Given the description of an element on the screen output the (x, y) to click on. 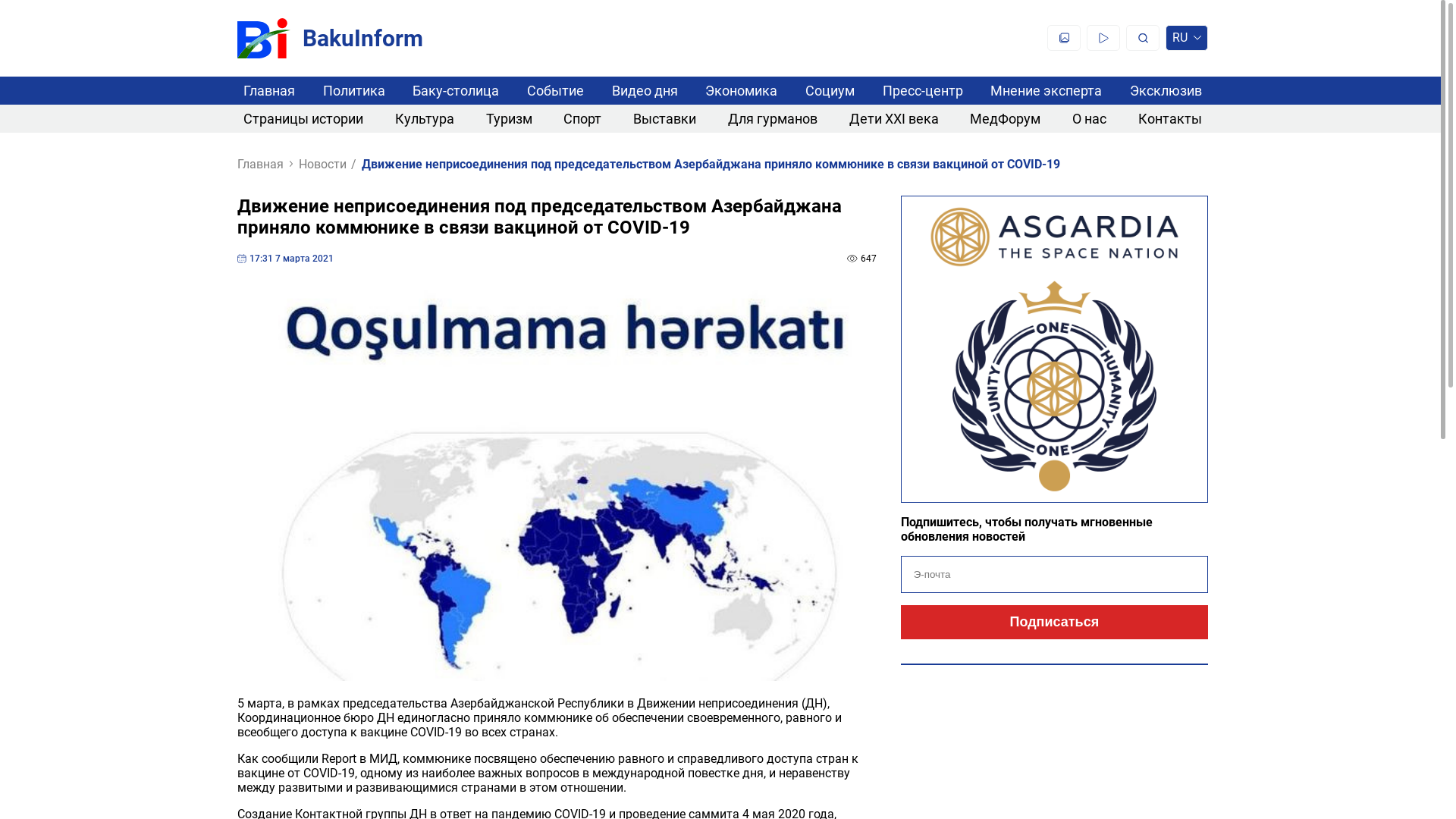
BakuInform Element type: text (330, 38)
